Given the description of an element on the screen output the (x, y) to click on. 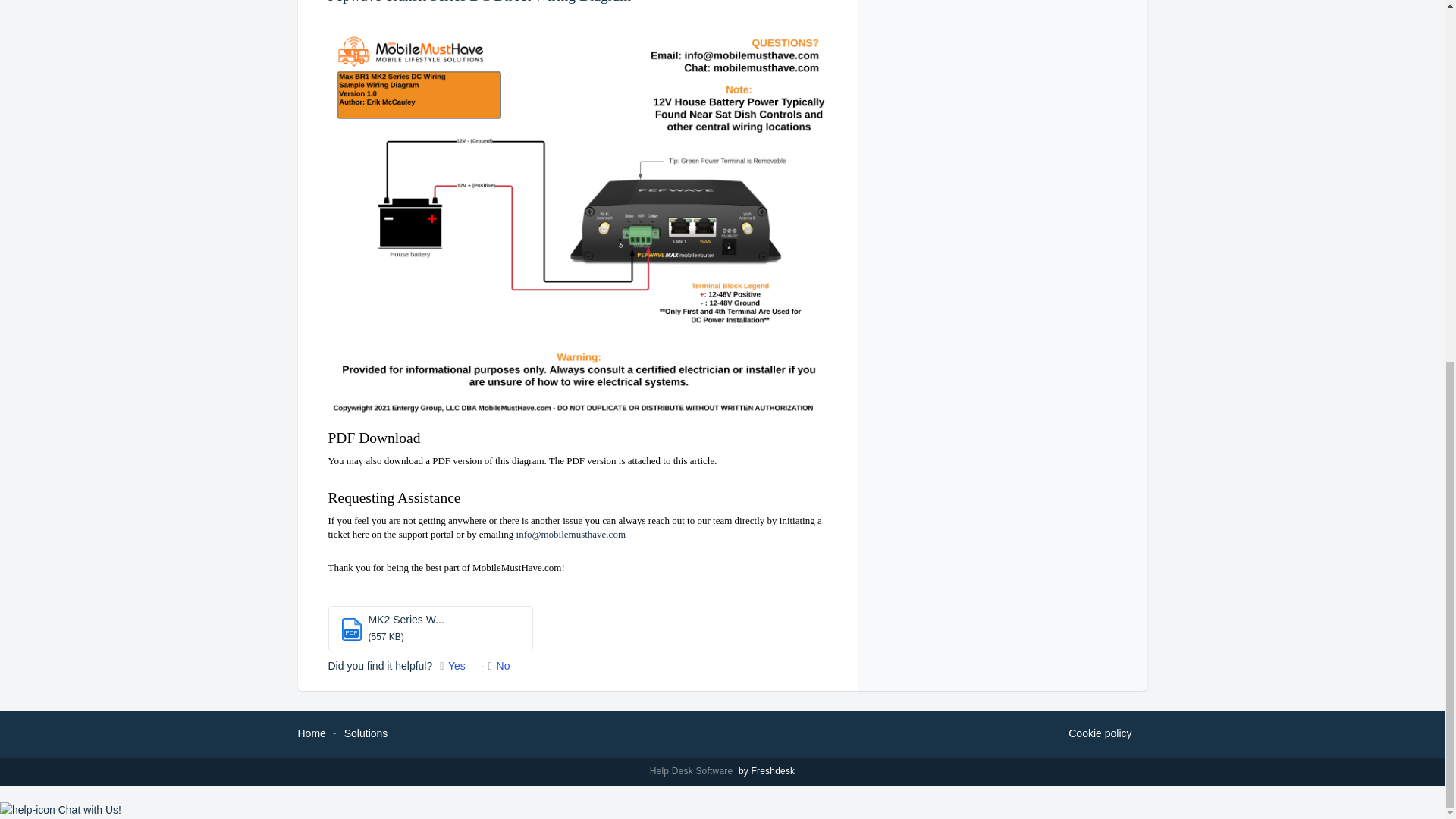
Cookie policy (1099, 733)
Why we love Cookies (1099, 733)
Home (310, 733)
MK2 Series W... (406, 619)
Solutions (365, 733)
Help Desk Software (693, 770)
